Given the description of an element on the screen output the (x, y) to click on. 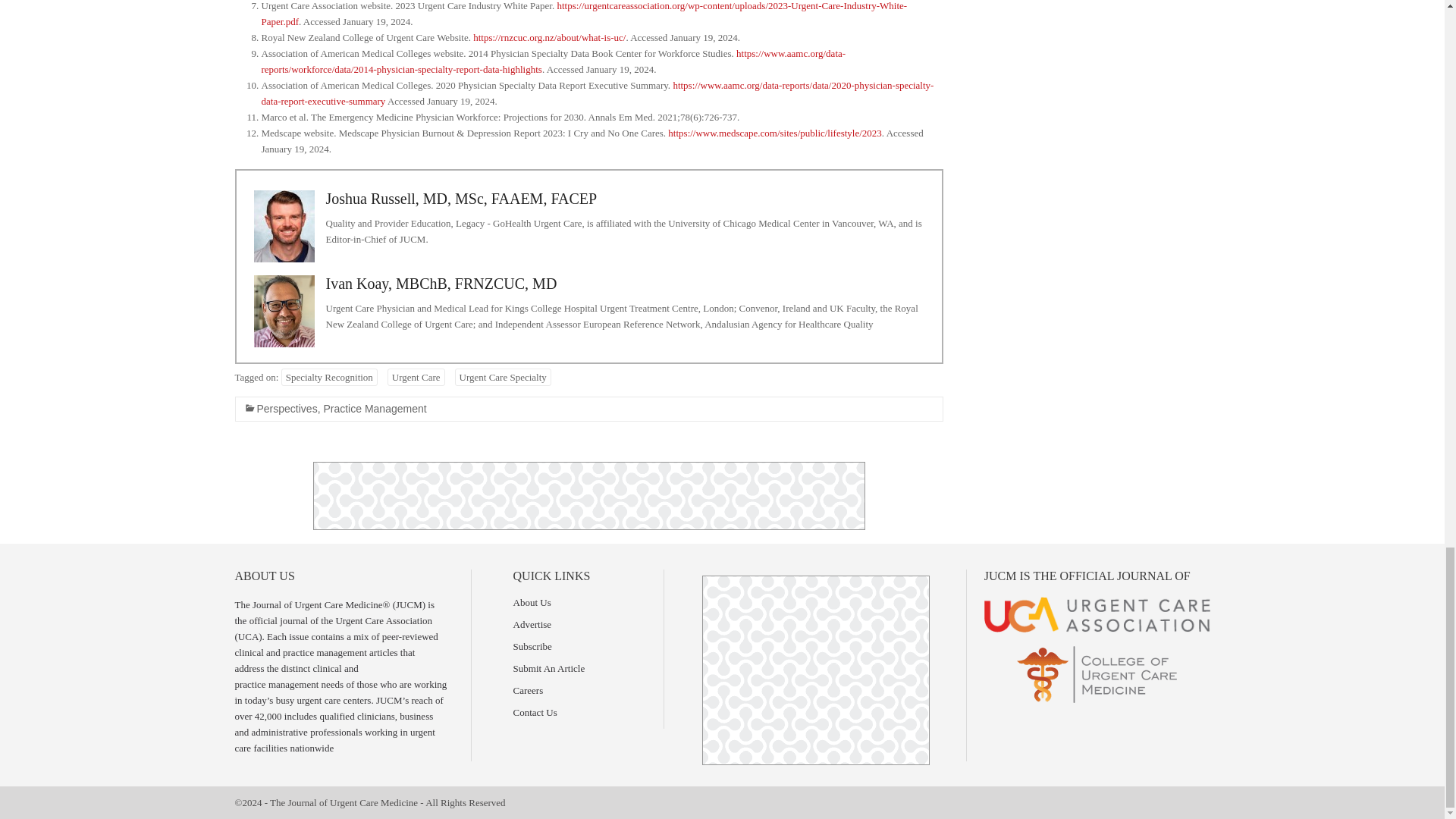
3rd party ad content (815, 669)
